Given the description of an element on the screen output the (x, y) to click on. 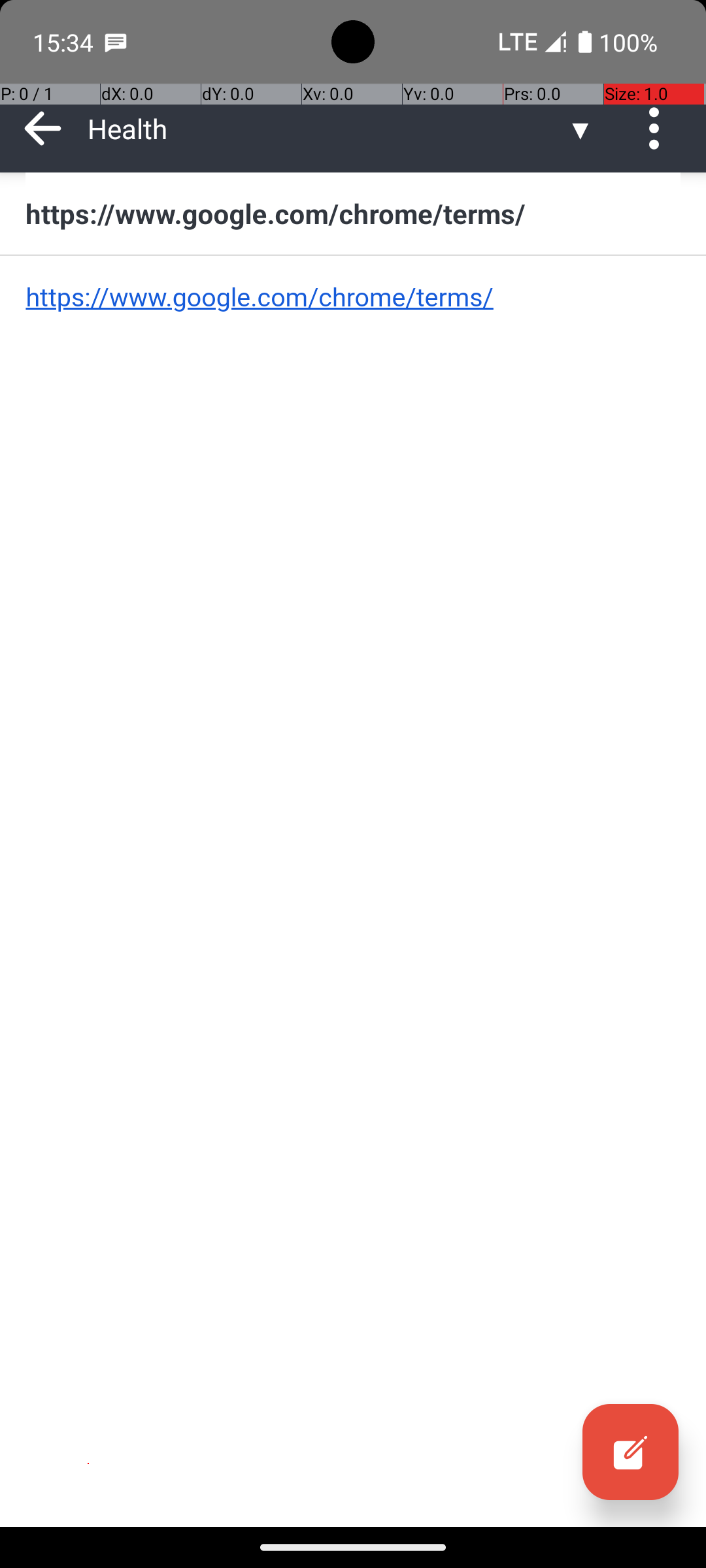
https://www.google.com/chrome/terms/ Element type: android.widget.EditText (352, 213)
SMS Messenger notification: +15505050843 Element type: android.widget.ImageView (115, 41)
